Given the description of an element on the screen output the (x, y) to click on. 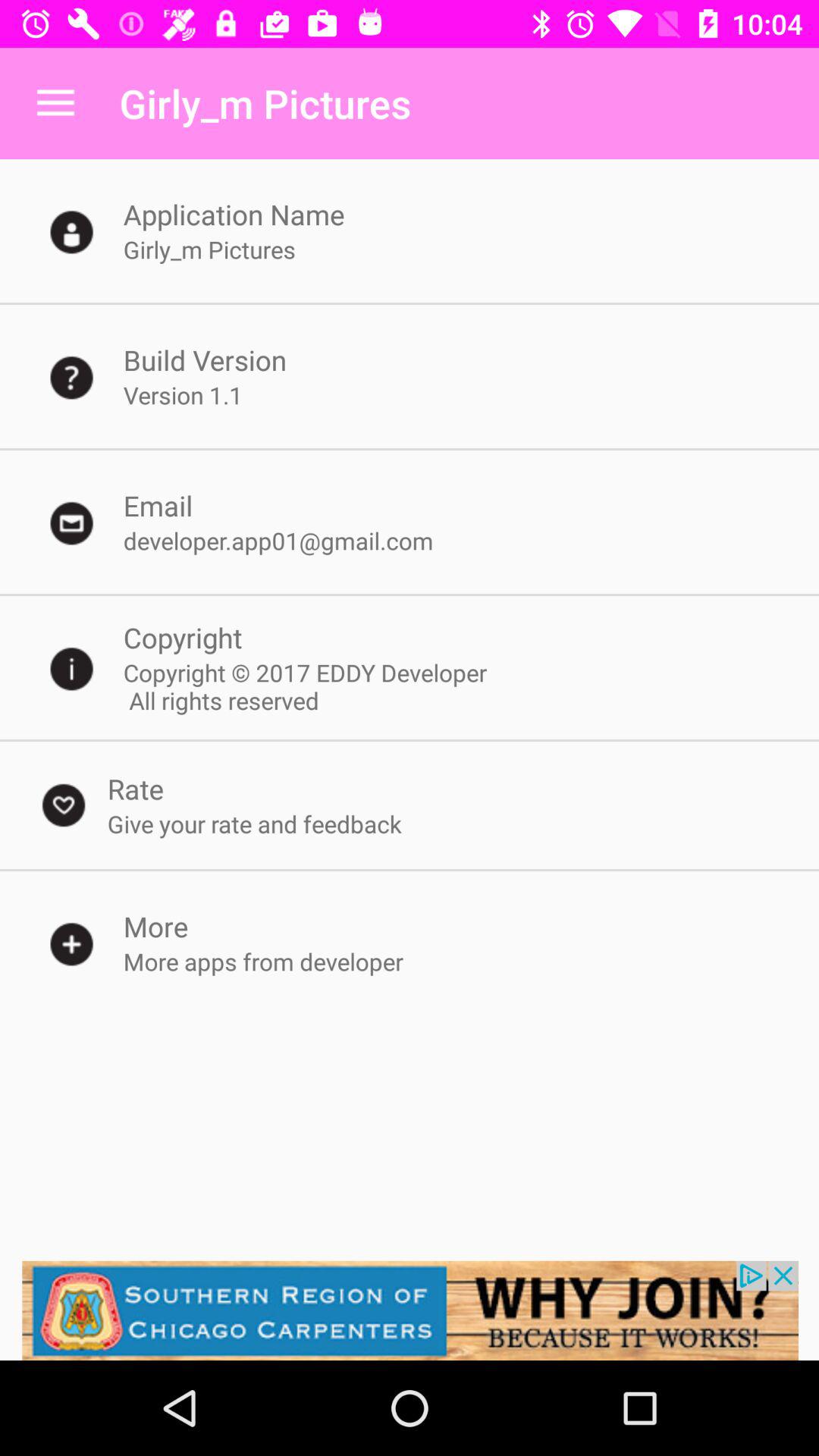
open advertisement (409, 1310)
